Given the description of an element on the screen output the (x, y) to click on. 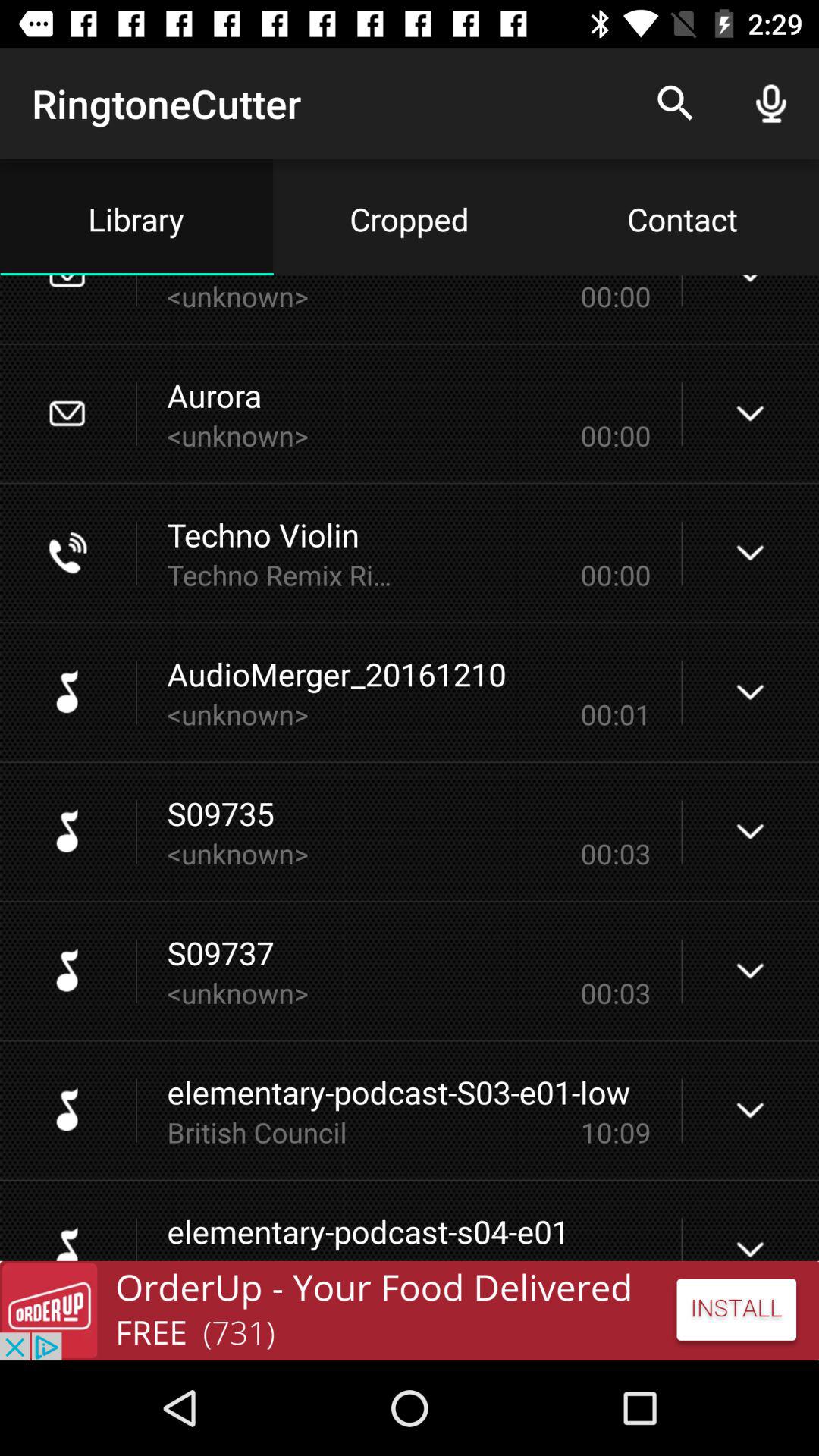
click to see advertisement (409, 1310)
